Given the description of an element on the screen output the (x, y) to click on. 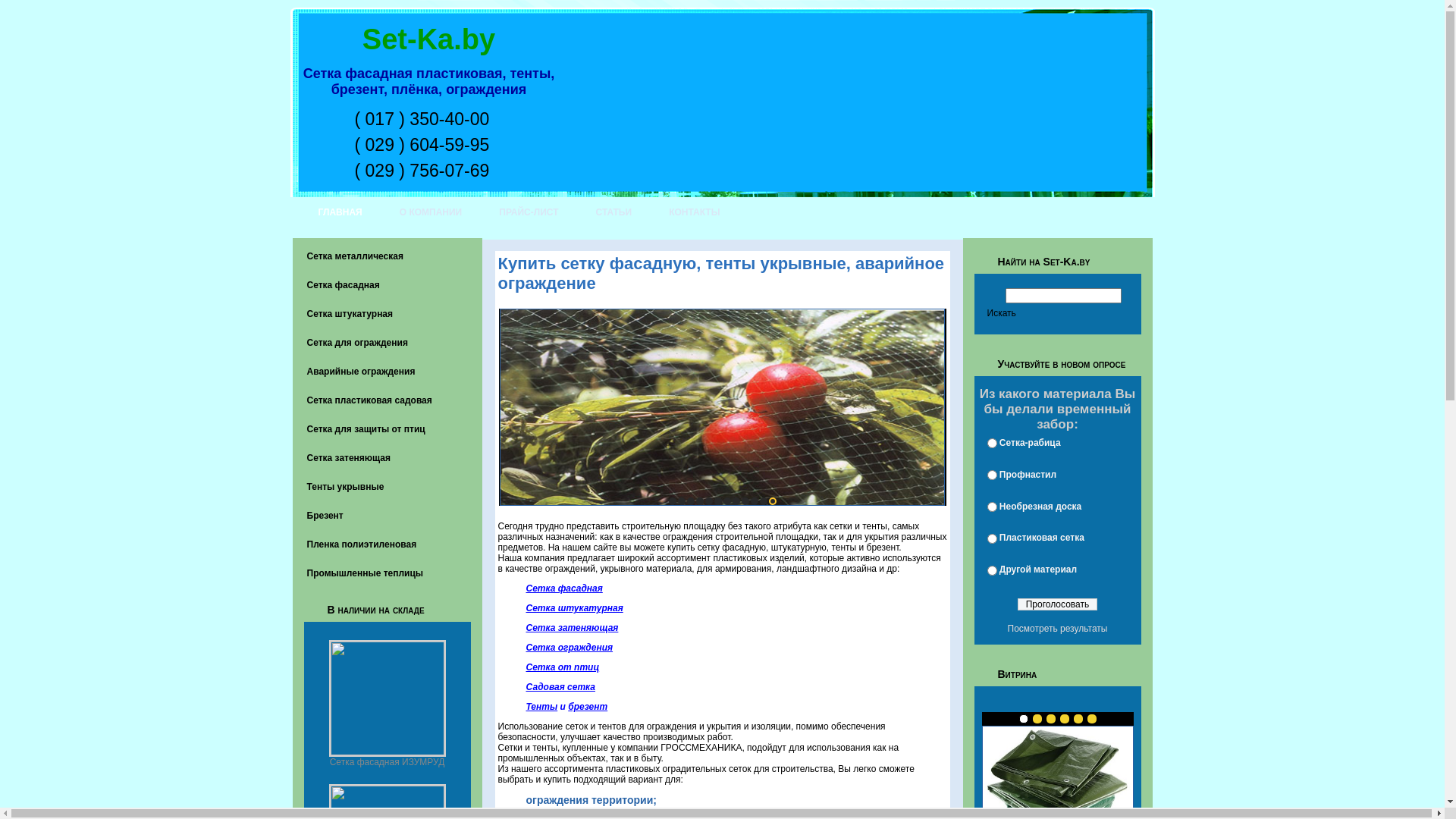
Set-Ka.by Element type: text (428, 39)
